Given the description of an element on the screen output the (x, y) to click on. 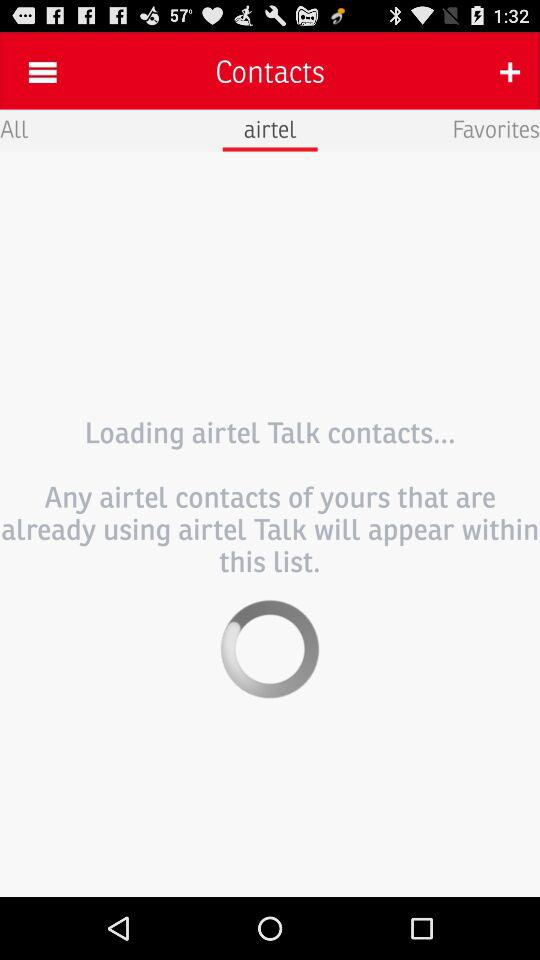
jump to the all app (14, 128)
